Given the description of an element on the screen output the (x, y) to click on. 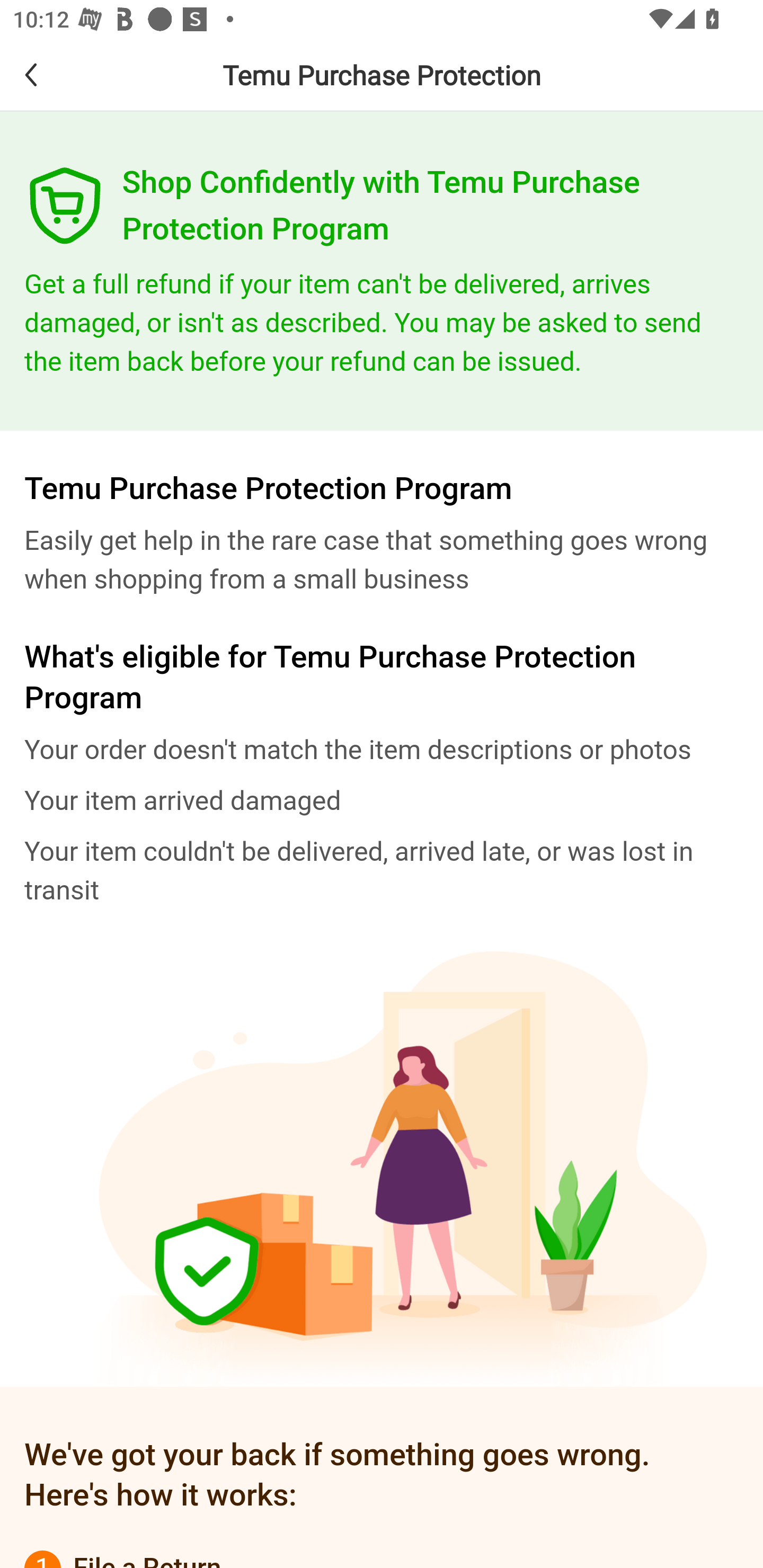
Back back (46, 74)
